Given the description of an element on the screen output the (x, y) to click on. 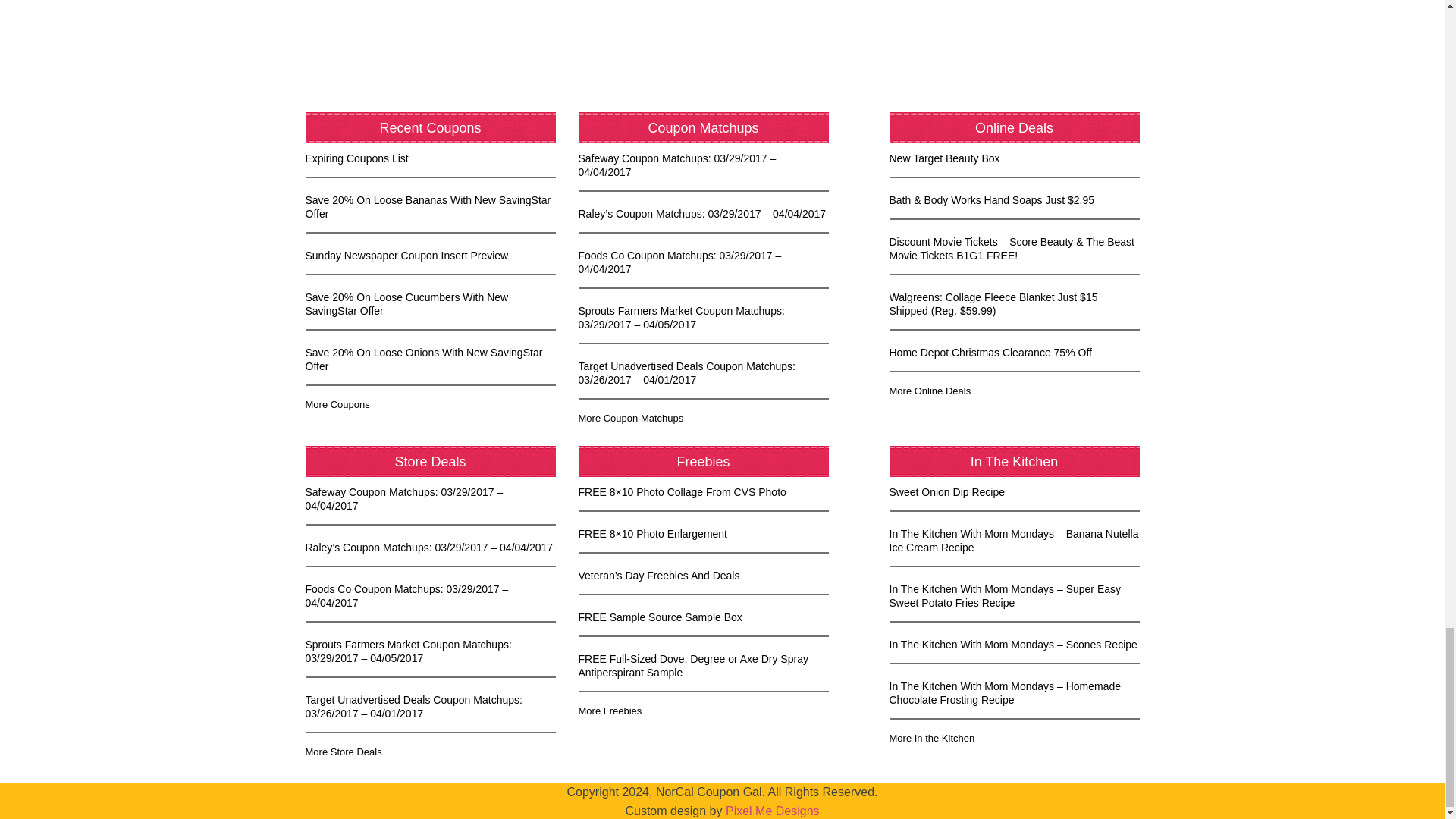
Sunday Newspaper Coupon Insert Preview (406, 255)
Coupons (336, 404)
Expiring Coupons List (355, 158)
